Given the description of an element on the screen output the (x, y) to click on. 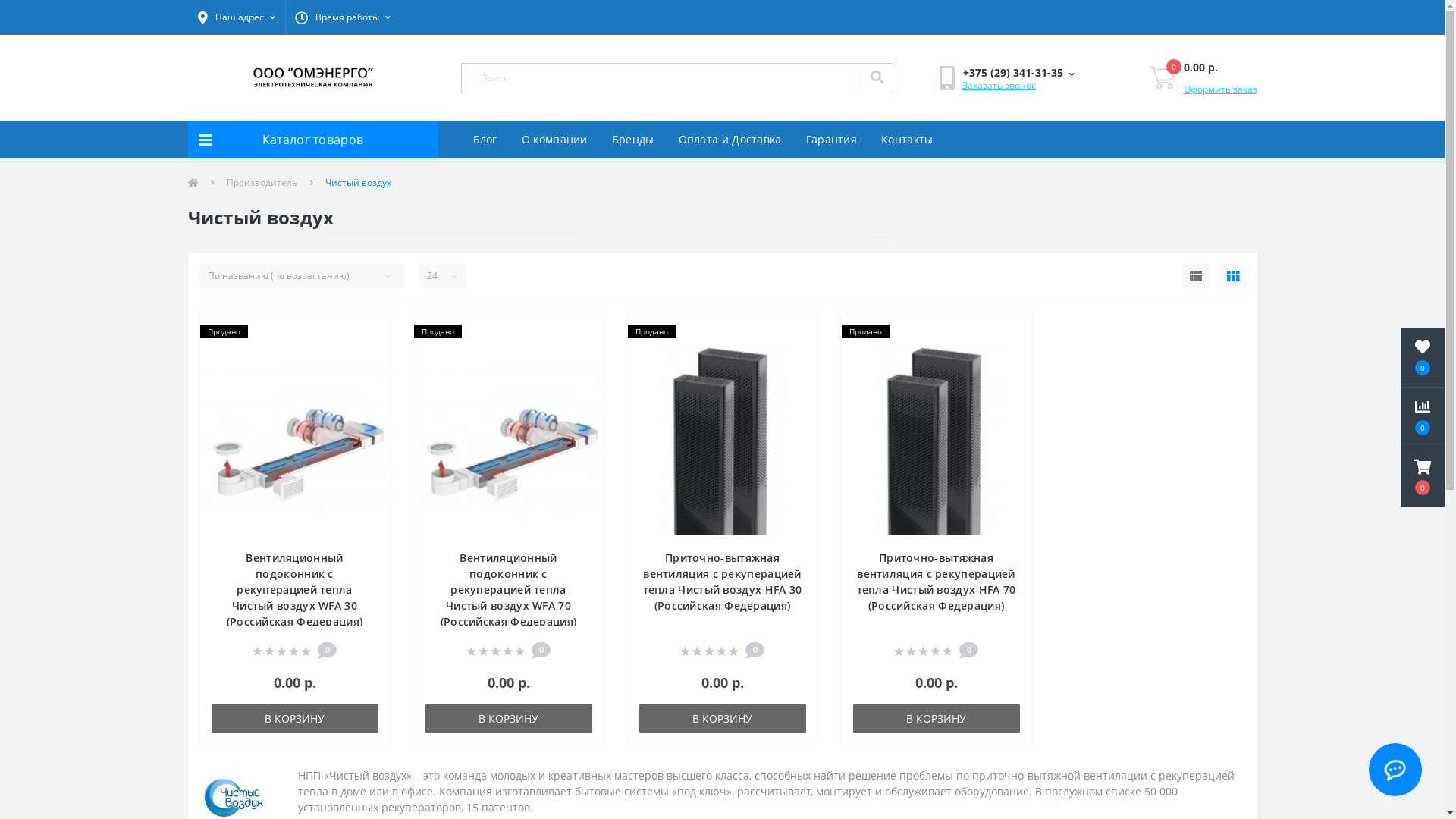
0 Element type: text (1422, 476)
0 Element type: text (1161, 77)
0 Element type: text (1422, 356)
0 Element type: text (1422, 416)
+375 (29) 341-31-35 Element type: text (1017, 72)
Omenergo.by Element type: hover (312, 77)
